Given the description of an element on the screen output the (x, y) to click on. 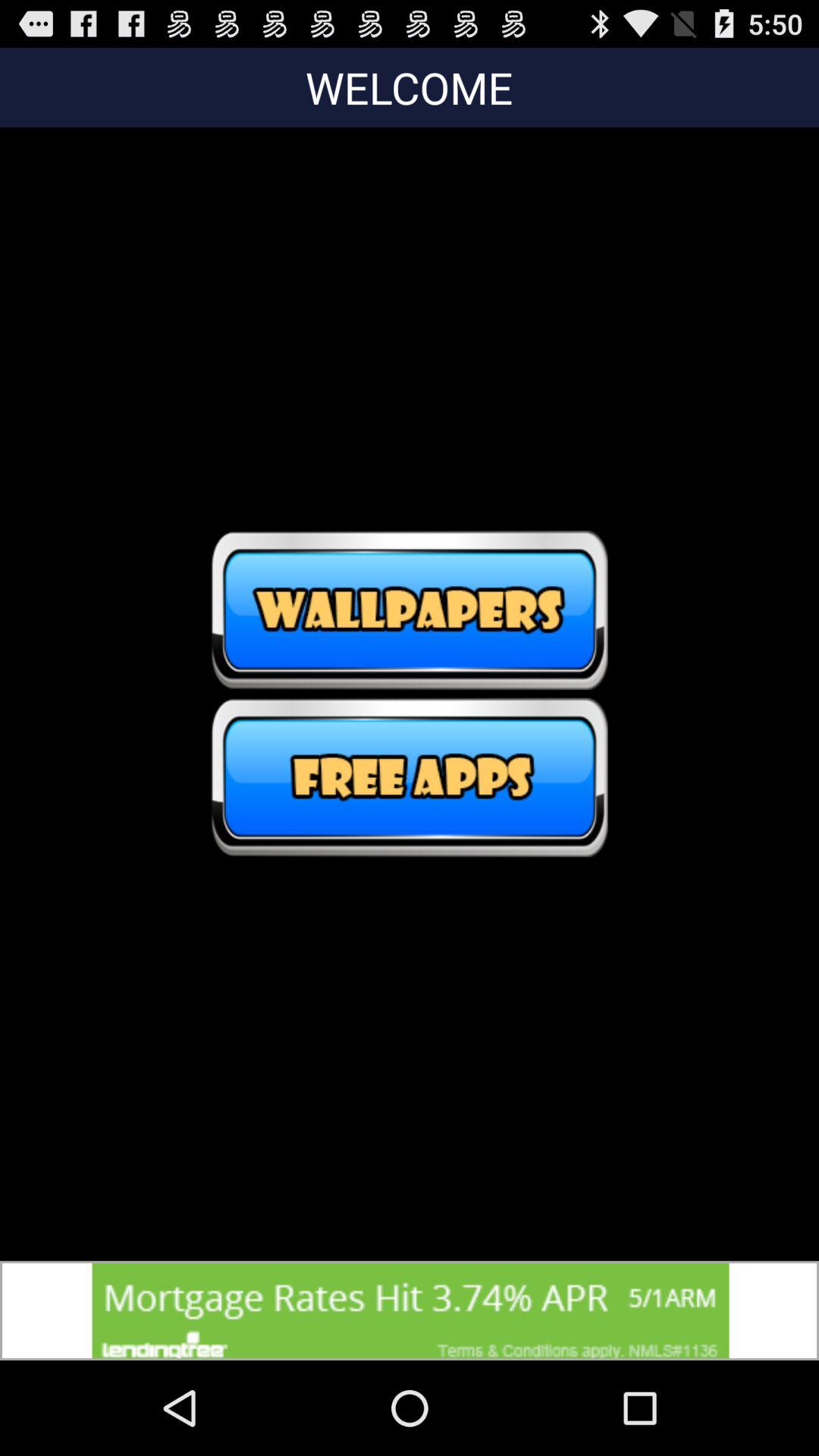
select advertisement (409, 1310)
